Given the description of an element on the screen output the (x, y) to click on. 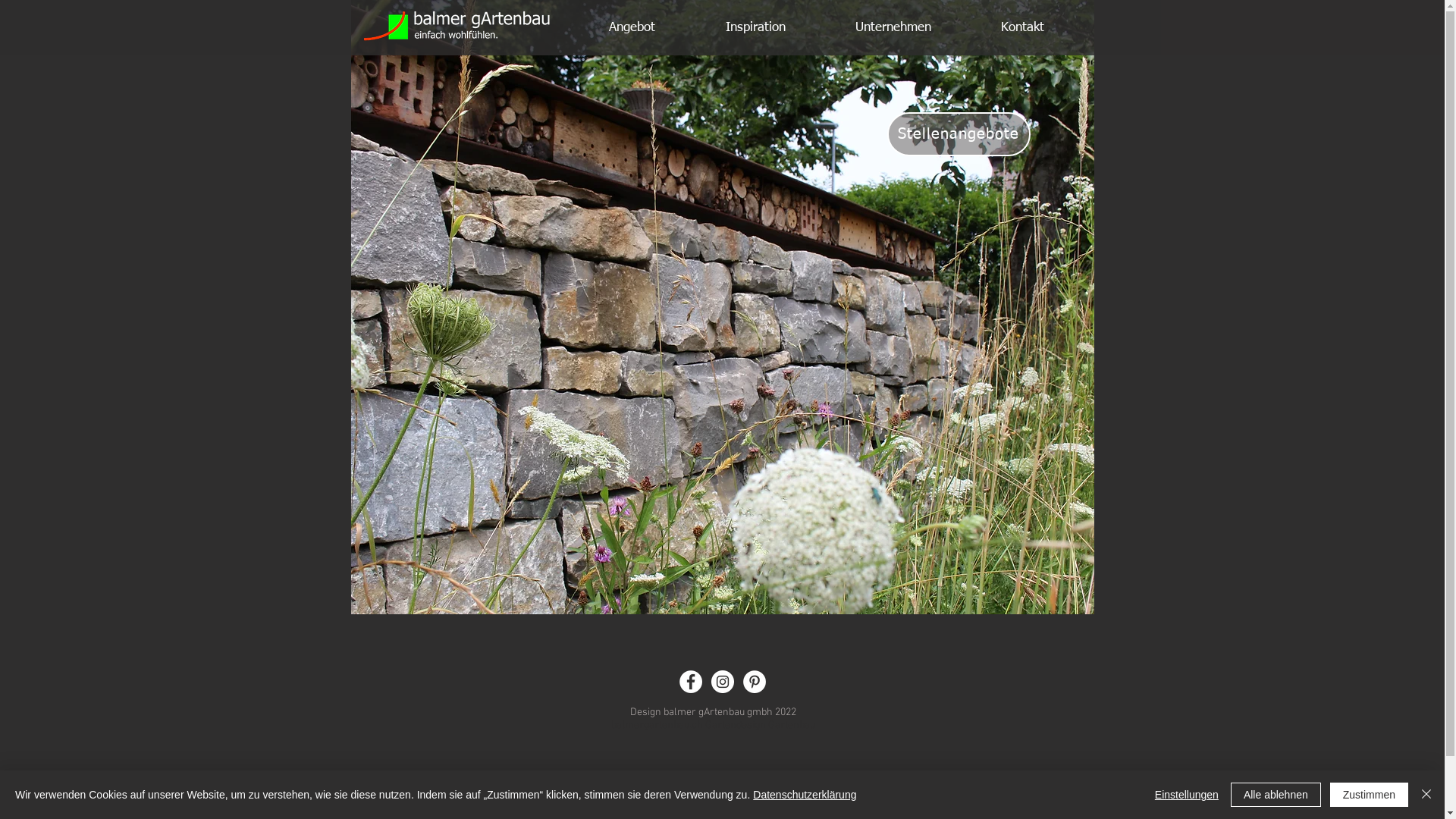
Angebot Element type: text (631, 27)
Zustimmen Element type: text (1369, 794)
Alle ablehnen Element type: text (1275, 794)
Kontakt Element type: text (1022, 27)
Inspiration Element type: text (754, 27)
Unternehmen Element type: text (893, 27)
Stellenangebote Element type: text (958, 134)
